Given the description of an element on the screen output the (x, y) to click on. 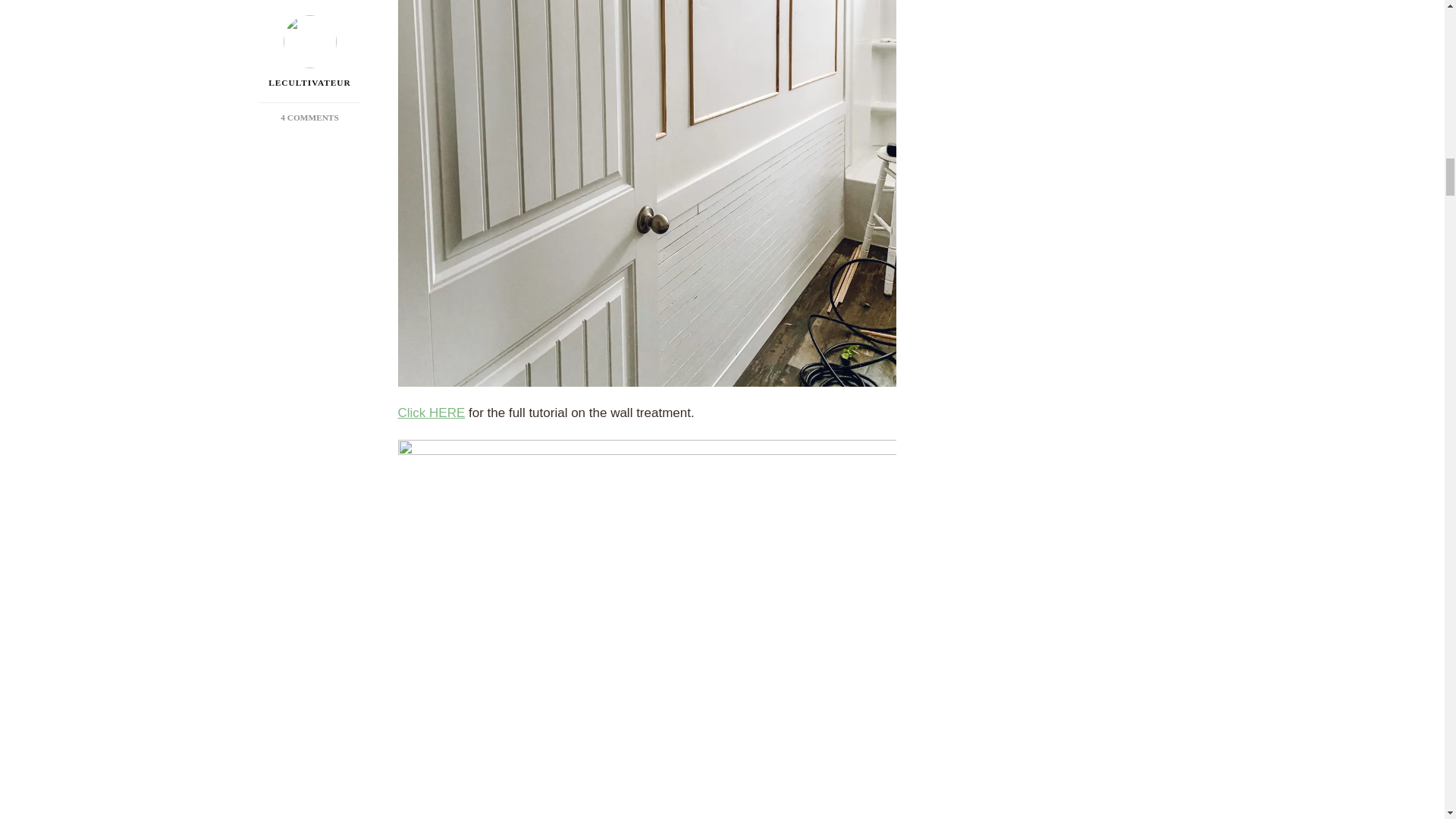
Click HERE (430, 412)
